Given the description of an element on the screen output the (x, y) to click on. 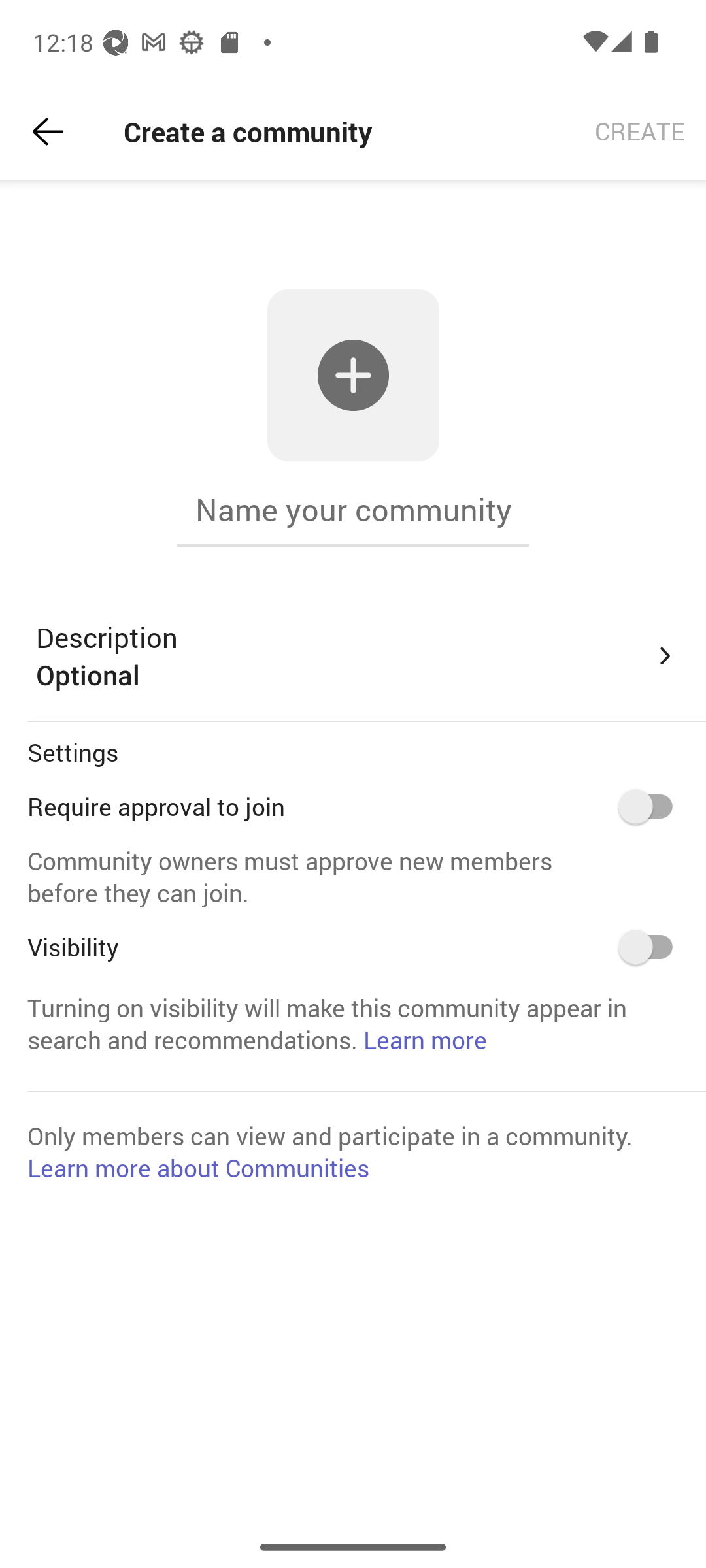
Back (48, 131)
CREATE (639, 131)
Add community image (353, 375)
Name your community (352, 509)
Description Optional (357, 656)
Require approval to join (652, 806)
Visibility (652, 946)
